Given the description of an element on the screen output the (x, y) to click on. 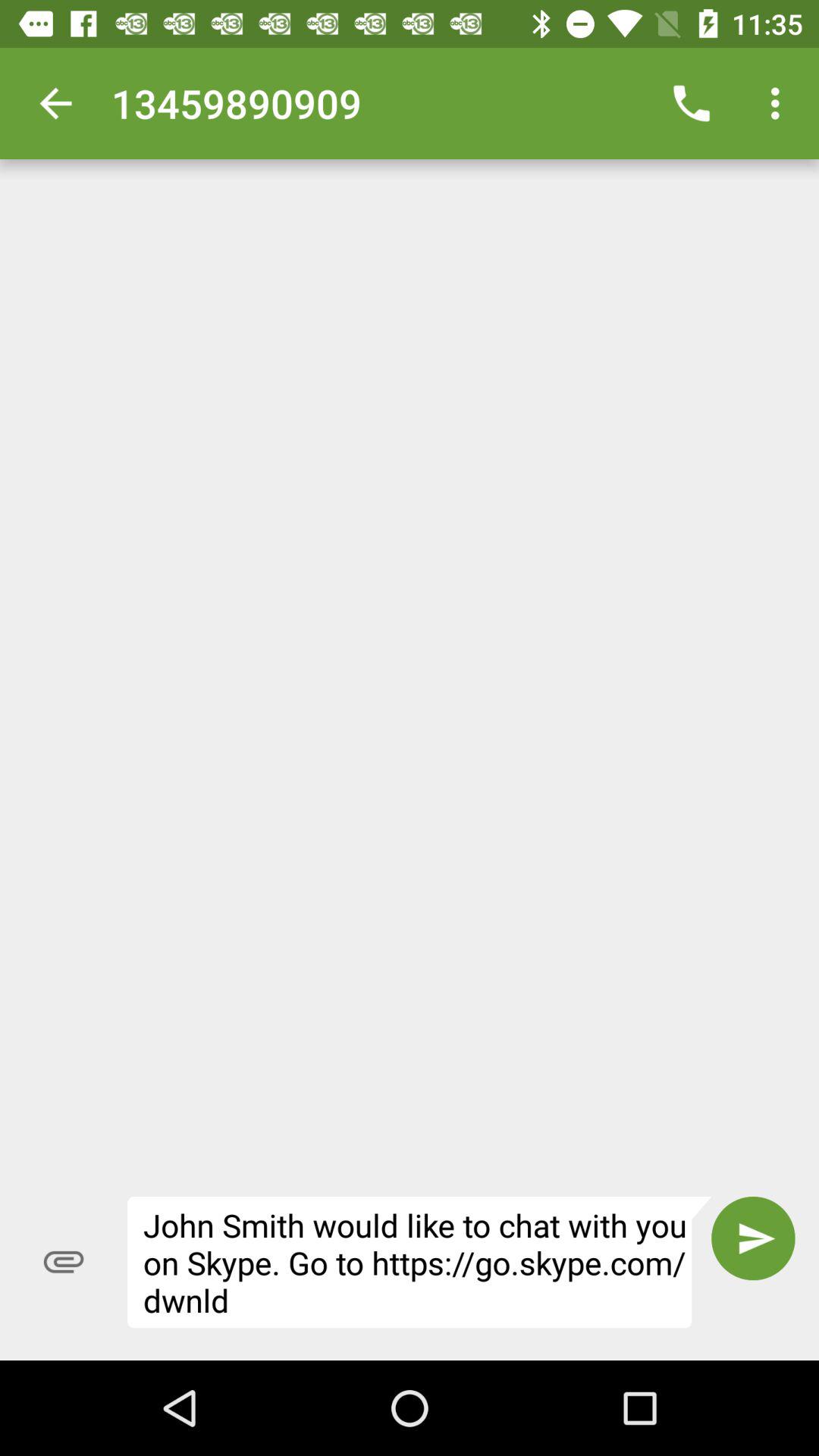
choose icon next to john smith would item (63, 1261)
